Given the description of an element on the screen output the (x, y) to click on. 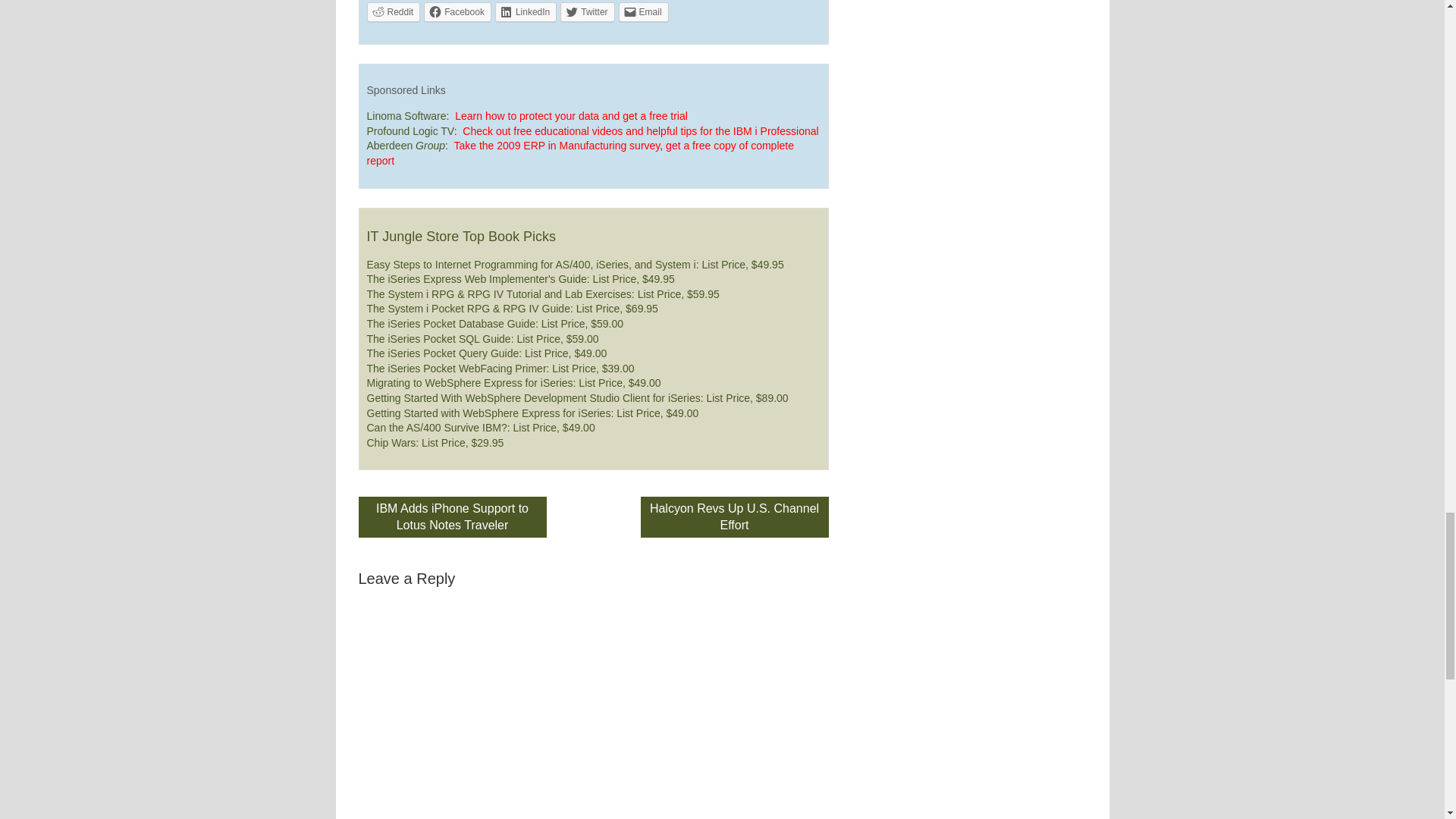
Reddit (393, 12)
Click to share on Facebook (457, 12)
Click to share on Reddit (393, 12)
Click to email a link to a friend (643, 12)
Click to share on LinkedIn (525, 12)
Comment Form (593, 708)
Click to share on Twitter (587, 12)
